Given the description of an element on the screen output the (x, y) to click on. 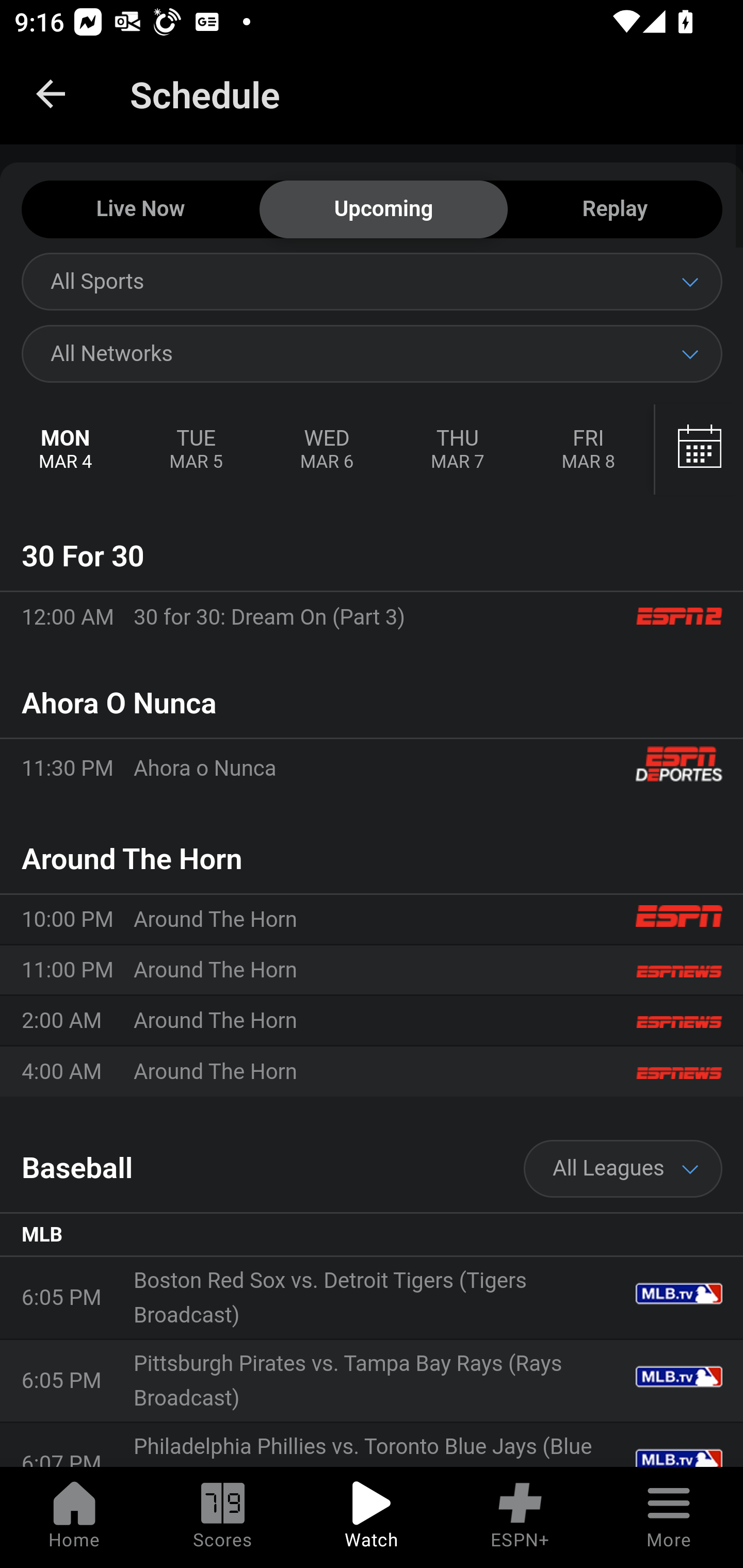
back.button (50, 93)
Live Now (140, 209)
Upcoming (382, 209)
Replay (614, 209)
All Sports (371, 281)
All Networks (371, 353)
Calendar (698, 449)
MON MAR 4 (65, 449)
TUE MAR 5 (195, 449)
WED MAR 6 (326, 449)
THU MAR 7 (457, 449)
FRI MAR 8 (588, 449)
All Leagues (622, 1168)
Home (74, 1517)
Scores (222, 1517)
ESPN+ (519, 1517)
More (668, 1517)
